Given the description of an element on the screen output the (x, y) to click on. 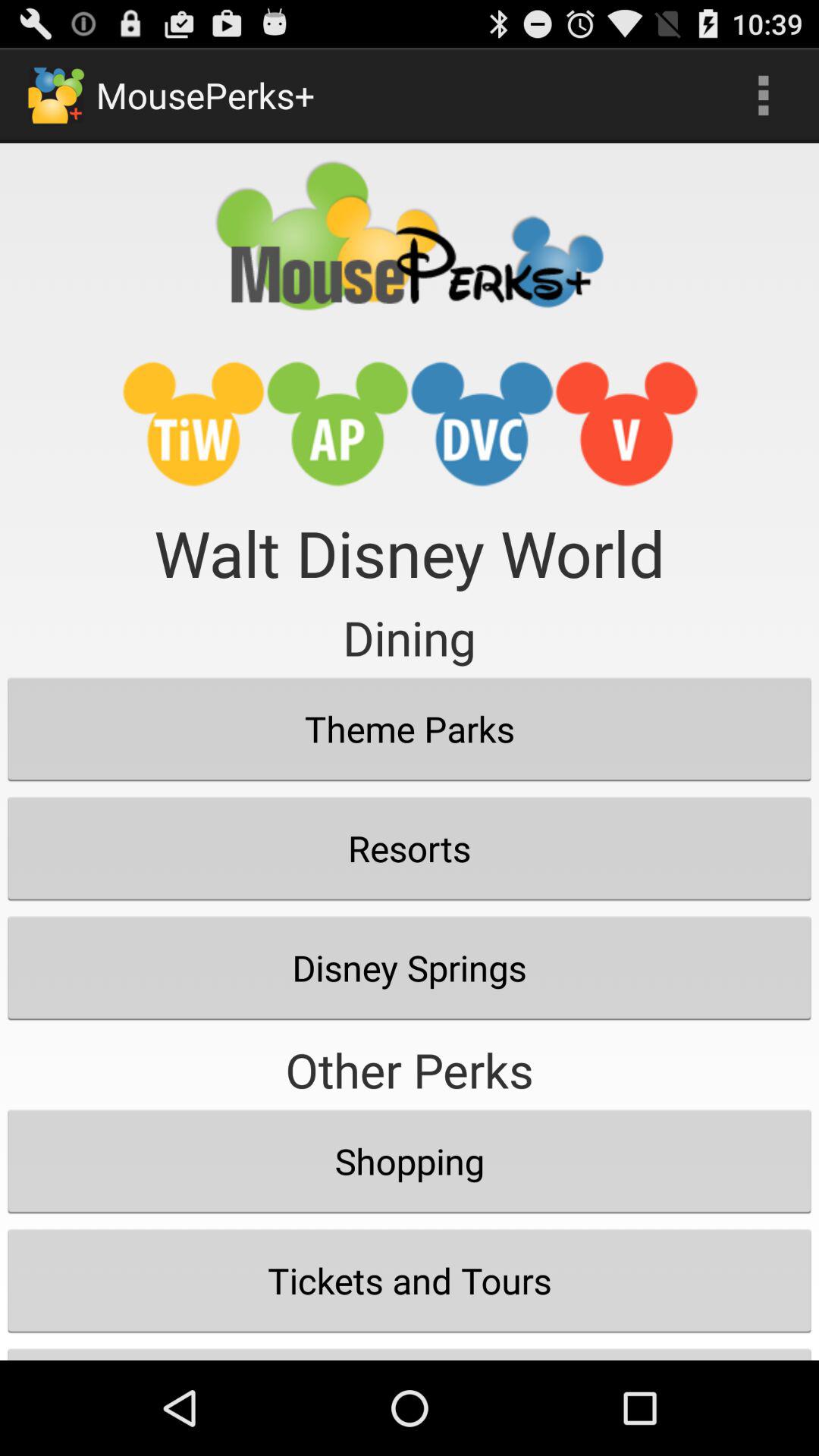
launch shopping (409, 1161)
